Given the description of an element on the screen output the (x, y) to click on. 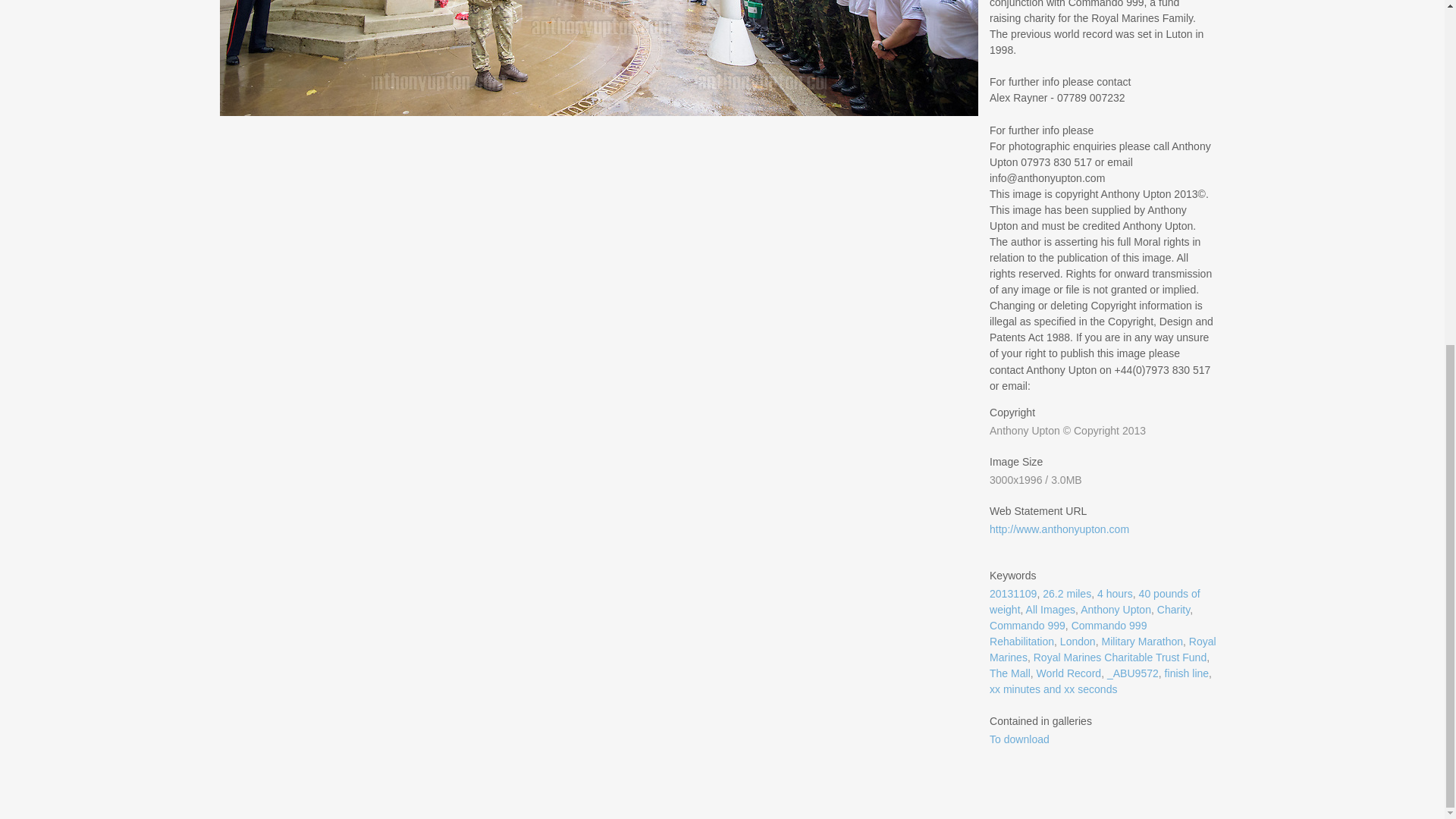
20131109 (1013, 593)
Anthony Upton (1115, 609)
Charity (1173, 609)
All Images (1050, 609)
Military Marathon (1141, 641)
Commando 999 Rehabilitation (1068, 633)
London (1077, 641)
26.2 miles (1066, 593)
40 pounds of weight (1094, 601)
The Mall (1010, 673)
4 hours (1114, 593)
Commando 999 (1027, 625)
Royal Marines (1102, 649)
Royal Marines Charitable Trust Fund (1120, 657)
